Given the description of an element on the screen output the (x, y) to click on. 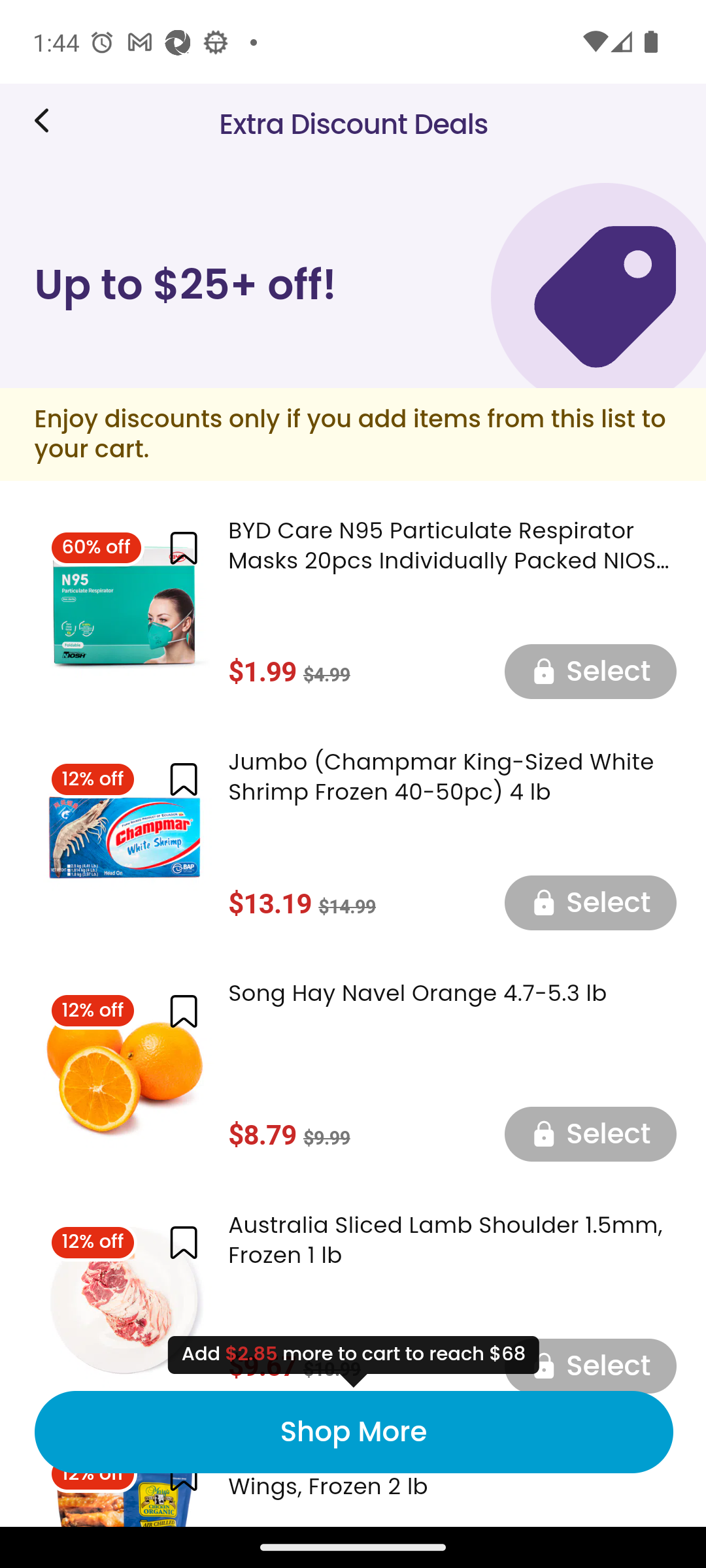
Weee! - Groceries Delivered (47, 119)
 (182, 548)
 Select (589, 670)
 (182, 778)
 Select (589, 901)
 (182, 1010)
 Select (589, 1133)
 (182, 1242)
 Select (589, 1364)
Shop More (352, 1431)
